Given the description of an element on the screen output the (x, y) to click on. 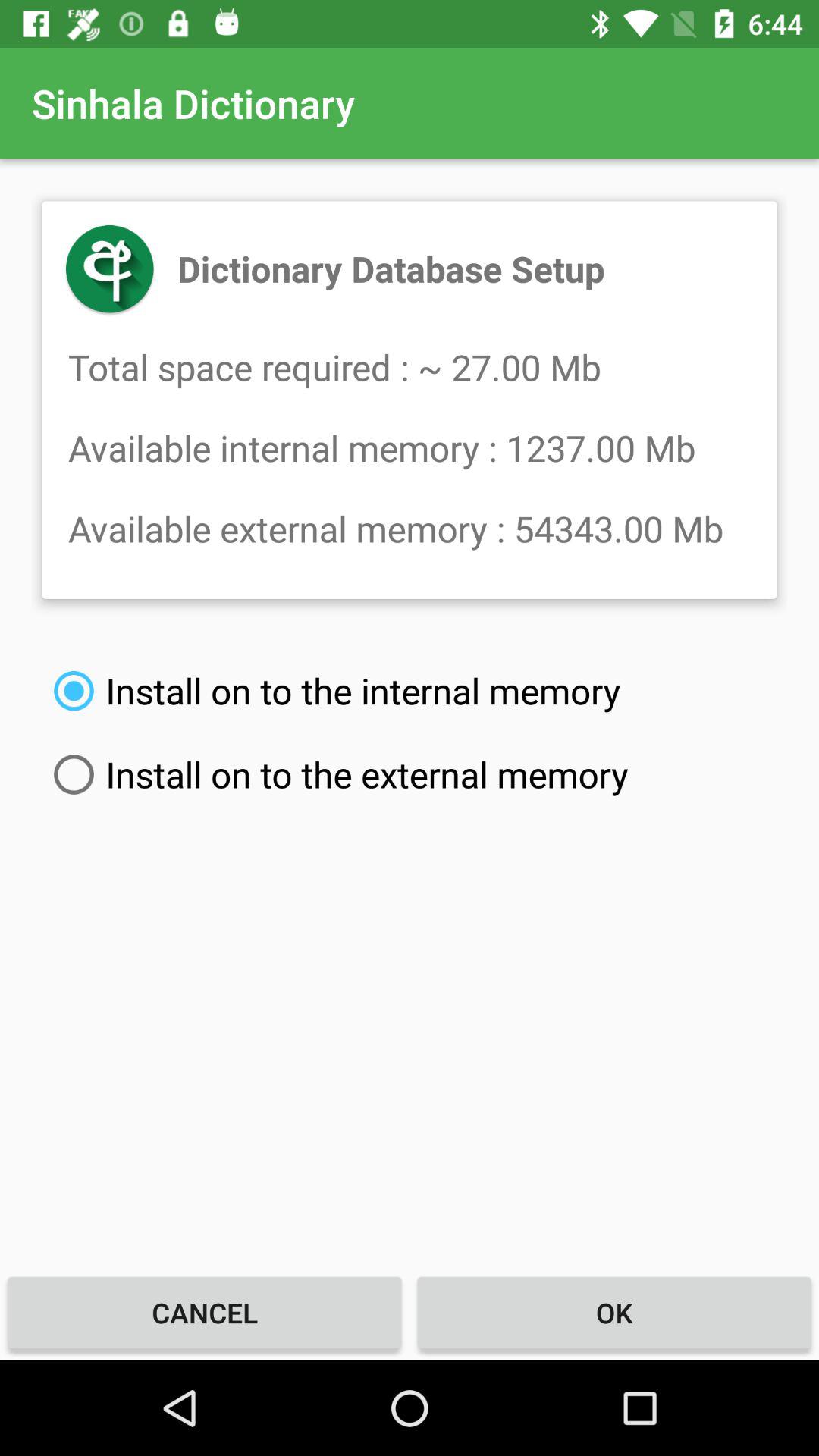
select the cancel at the bottom left corner (204, 1312)
